Given the description of an element on the screen output the (x, y) to click on. 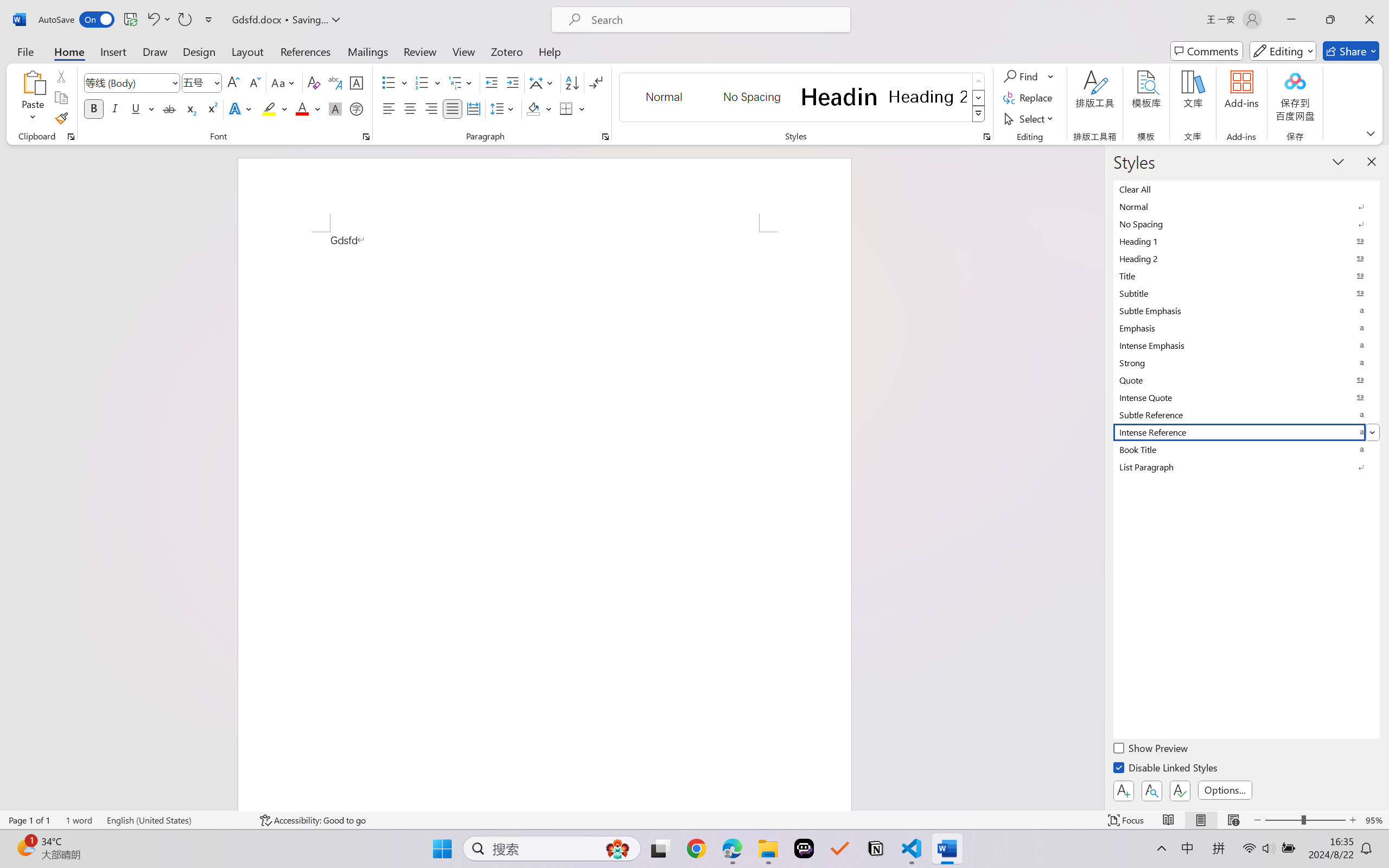
Shrink Font (253, 82)
Cut (60, 75)
Task Pane Options (1338, 161)
Microsoft search (715, 19)
Heading 1 (839, 96)
Undo Style (152, 19)
